Given the description of an element on the screen output the (x, y) to click on. 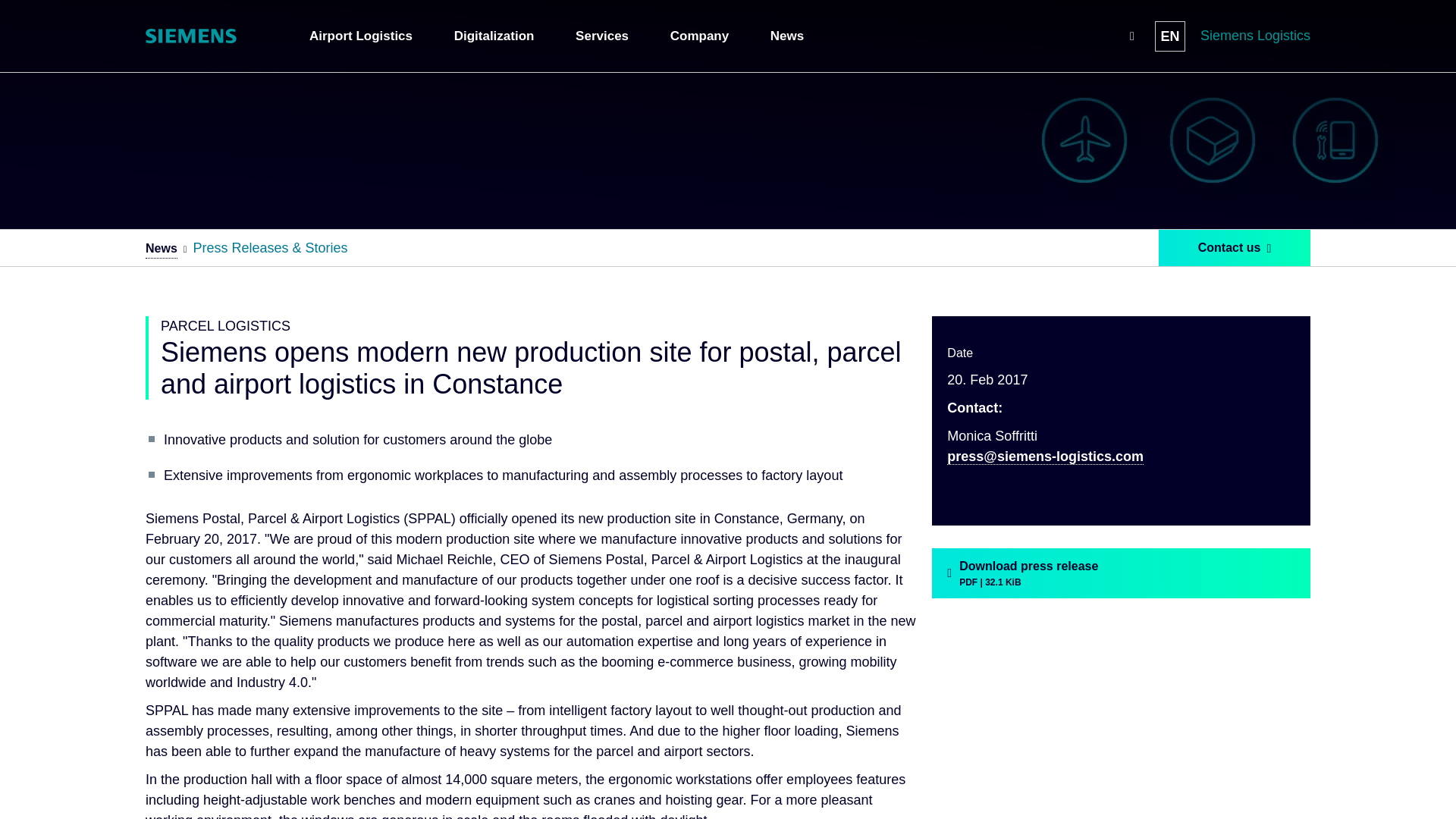
Airport logistics services (604, 36)
Services (604, 36)
Digitalization (496, 36)
Airport logistics - efficient and passenger friendly (362, 36)
News (789, 36)
Digital Aviation (496, 36)
Company (701, 36)
Go to homepage (190, 35)
Airport Logistics (362, 36)
Suche (1131, 36)
